Given the description of an element on the screen output the (x, y) to click on. 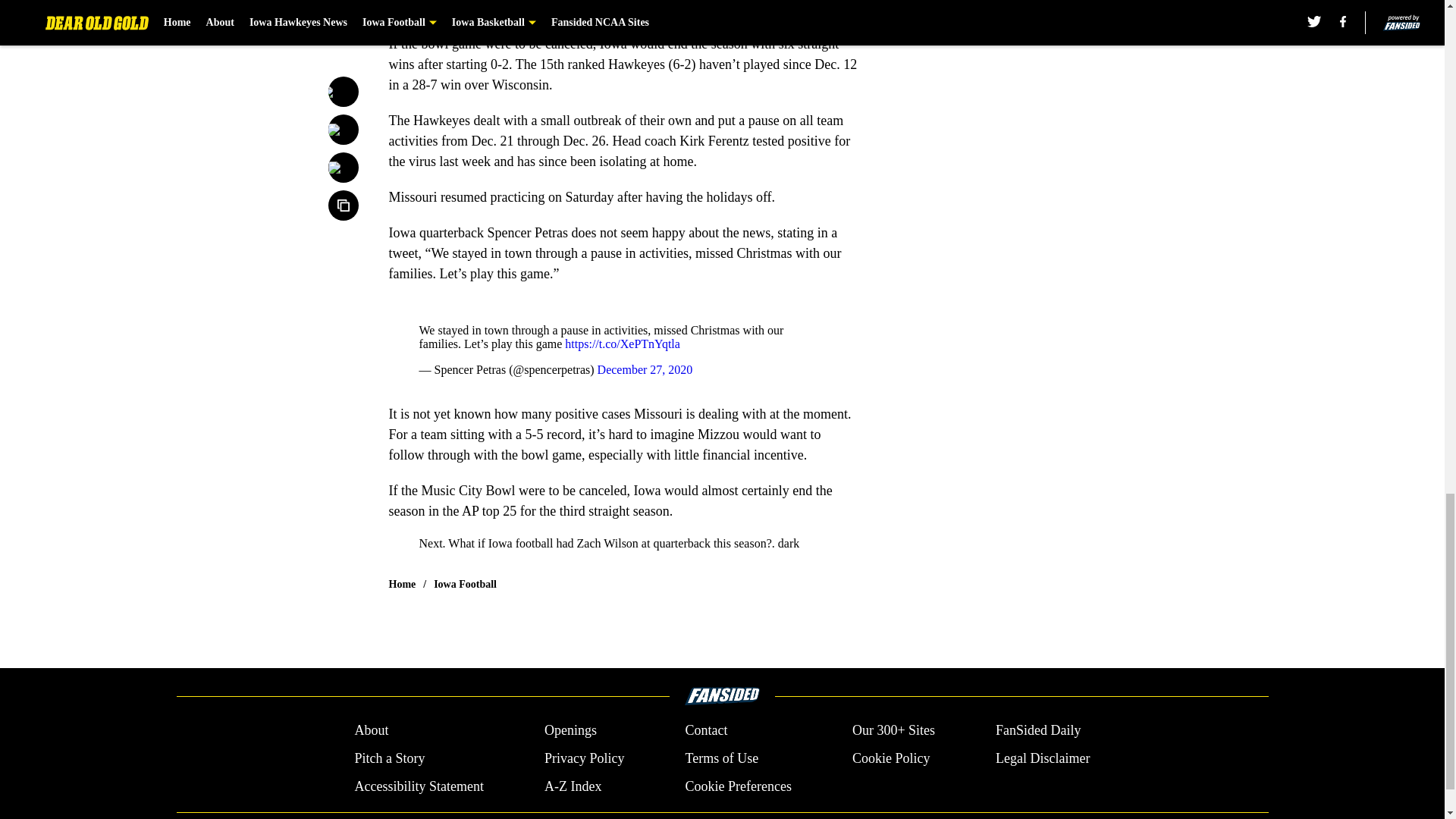
Openings (570, 730)
Cookie Policy (890, 758)
A-Z Index (572, 786)
Privacy Policy (584, 758)
About (370, 730)
Cookie Preferences (737, 786)
Contact (705, 730)
Home (401, 584)
Accessibility Statement (418, 786)
FanSided Daily (1038, 730)
